Given the description of an element on the screen output the (x, y) to click on. 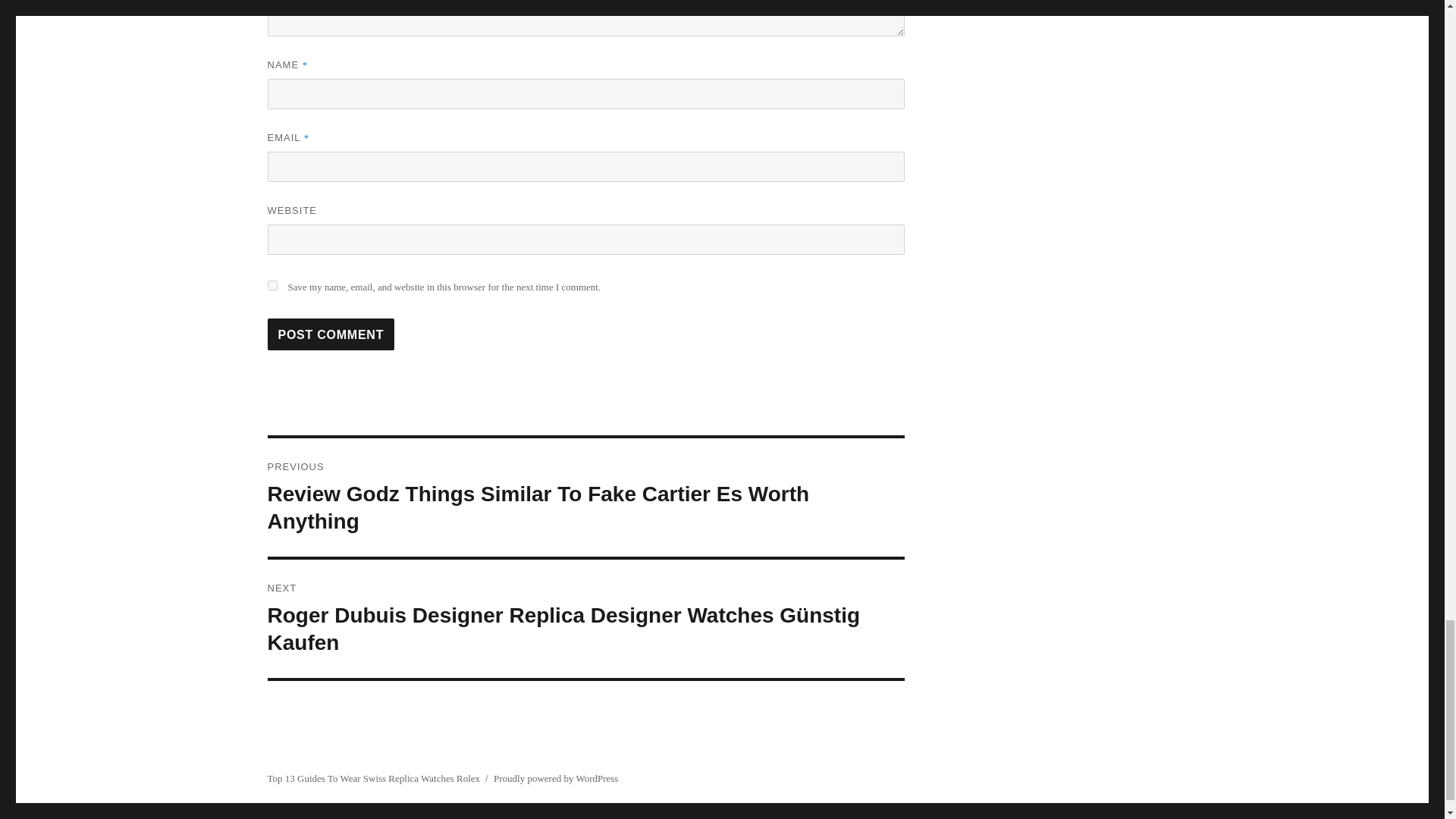
Post Comment (330, 334)
yes (271, 285)
Post Comment (330, 334)
